Given the description of an element on the screen output the (x, y) to click on. 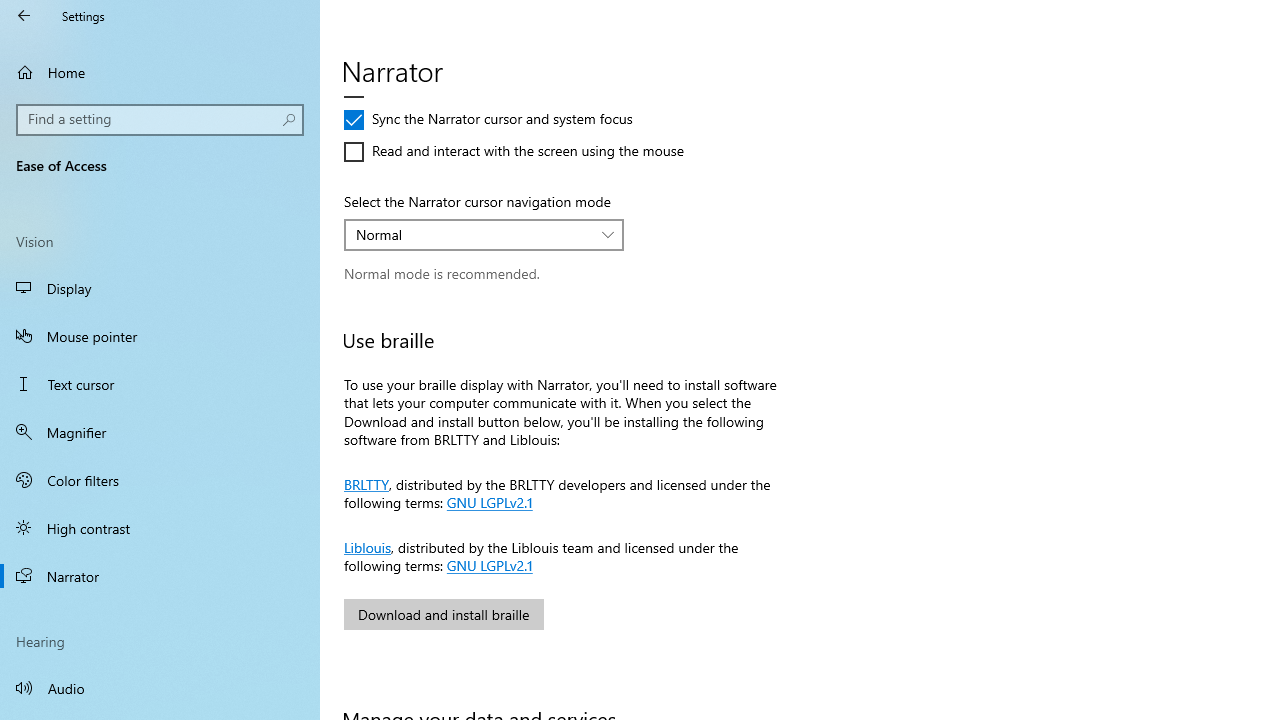
Text cursor (160, 384)
Magnifier (160, 431)
Sync the Narrator cursor and system focus (488, 119)
Show the Narrator cursor (435, 56)
GNU LGPLv2.1 (488, 564)
Select the Narrator cursor navigation mode (484, 234)
High contrast (160, 527)
Display (160, 287)
Liblouis (367, 546)
Read and interact with the screen using the mouse (514, 151)
Download and install braille (444, 614)
Mouse pointer (160, 335)
Color filters (160, 479)
